Given the description of an element on the screen output the (x, y) to click on. 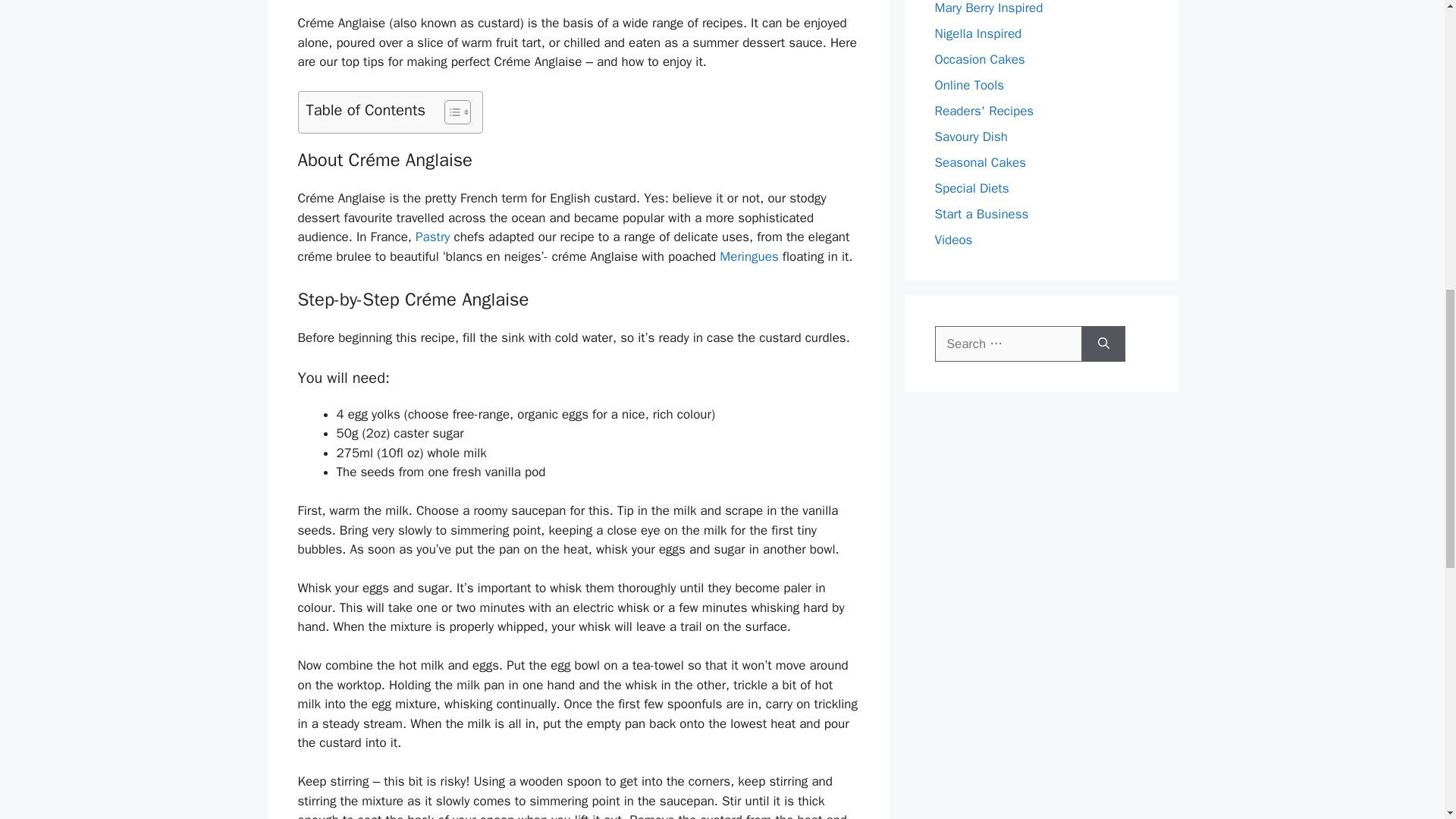
Online Tools (969, 84)
Nigella Inspired (978, 33)
Savoury Dish (970, 136)
Search for: (1007, 343)
Meringues (748, 256)
Readers' Recipes (983, 110)
Mary Berry Inspired (988, 7)
Occasion Cakes (979, 59)
Pastry (431, 236)
